Given the description of an element on the screen output the (x, y) to click on. 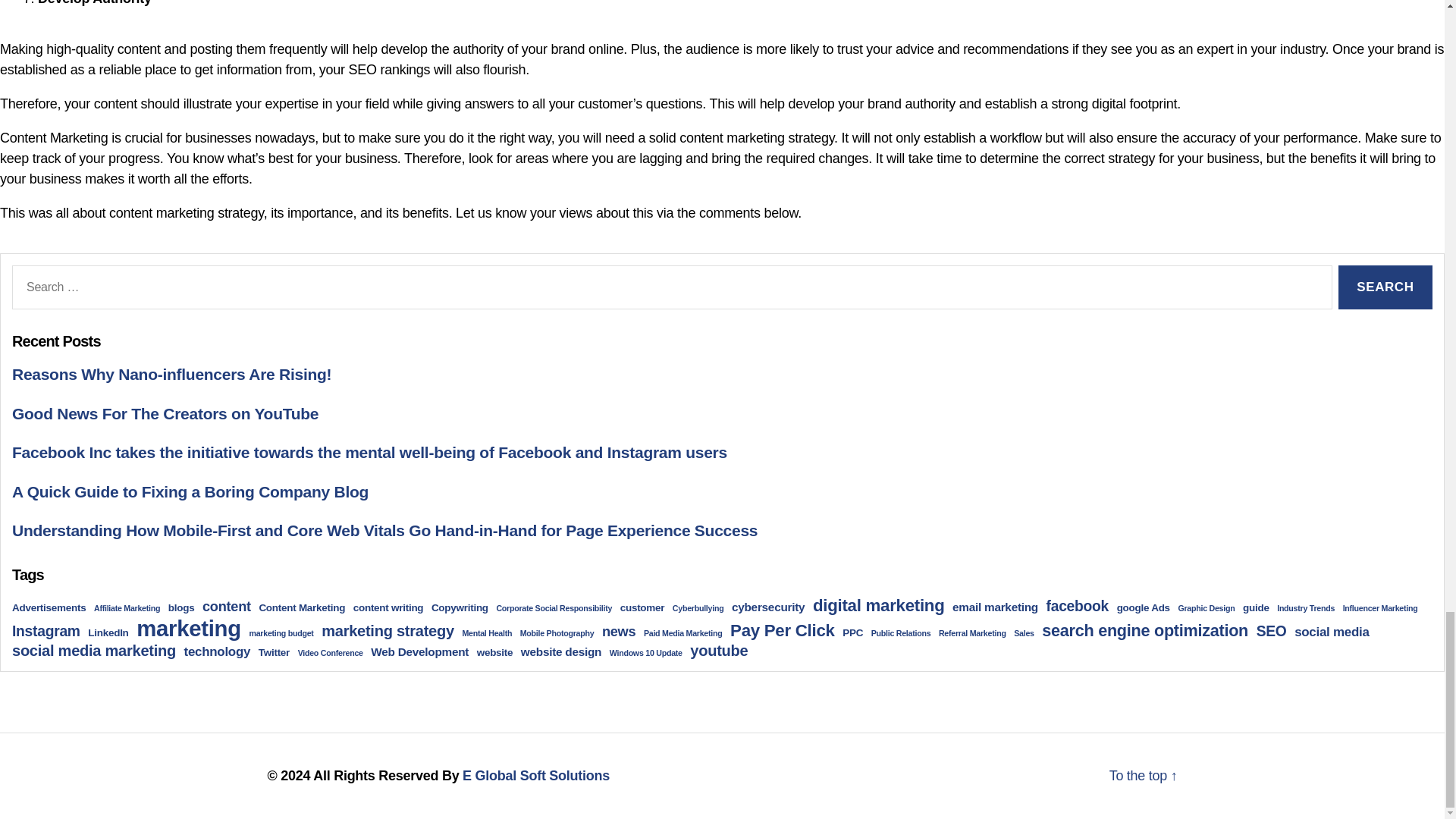
A Quick Guide to Fixing a Boring Company Blog (189, 491)
Reasons Why Nano-influencers Are Rising! (171, 374)
content writing (388, 607)
Corporate Social Responsibility (553, 607)
Affiliate Marketing (127, 607)
content (226, 606)
Search (1385, 287)
Advertisements (48, 607)
Search (1385, 287)
Search (1385, 287)
Good News For The Creators on YouTube (164, 413)
Content Marketing (302, 607)
Copywriting (458, 607)
